Given the description of an element on the screen output the (x, y) to click on. 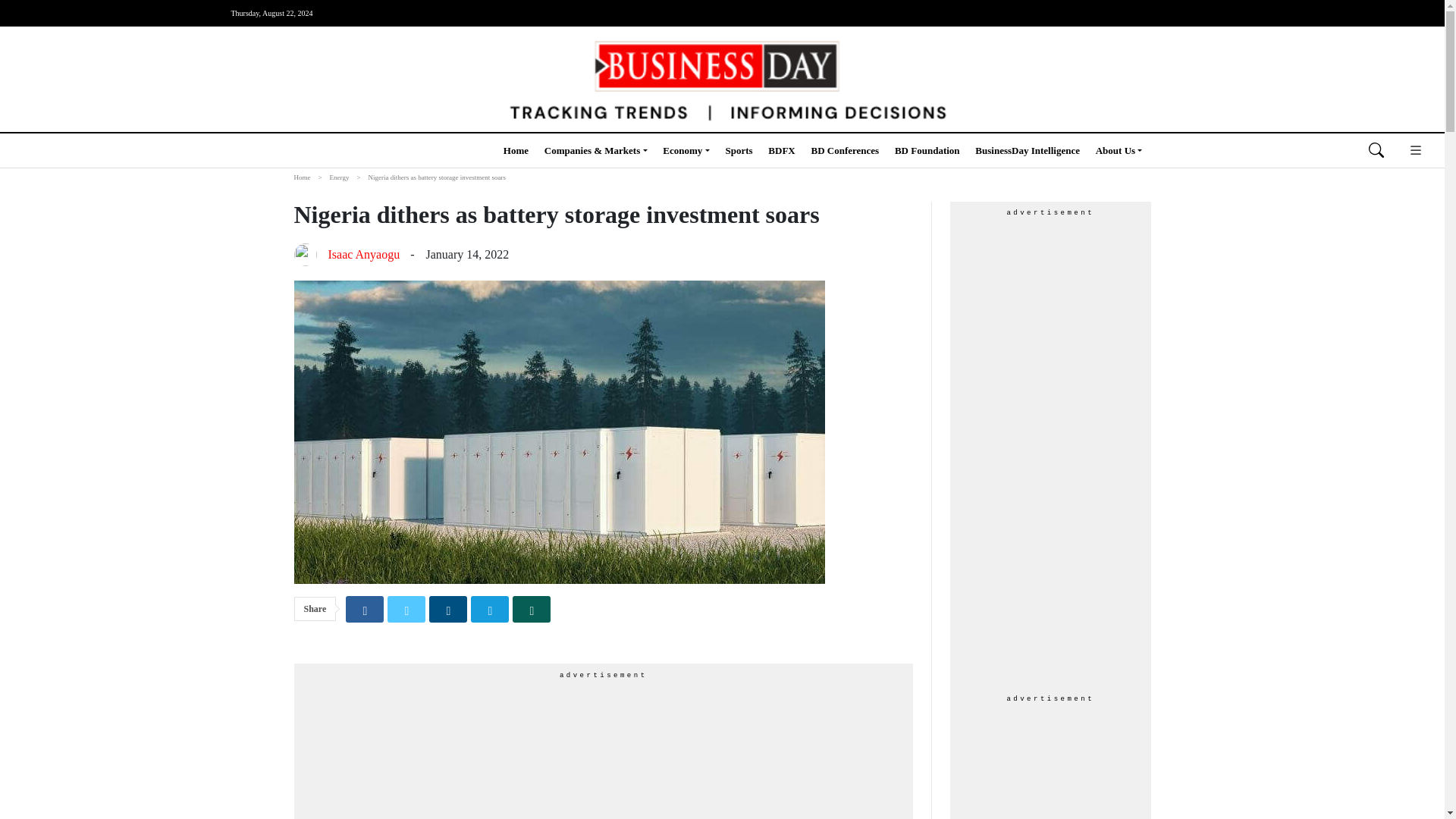
BD Conferences (844, 149)
BD Foundation (927, 149)
About Us (1119, 149)
BusinessDay Intelligence (1027, 149)
BD Conferences (844, 149)
BD Foundation (927, 149)
BusinessDay Intelligence (1027, 149)
Economy (685, 149)
About Us (1119, 149)
Economy (685, 149)
